Given the description of an element on the screen output the (x, y) to click on. 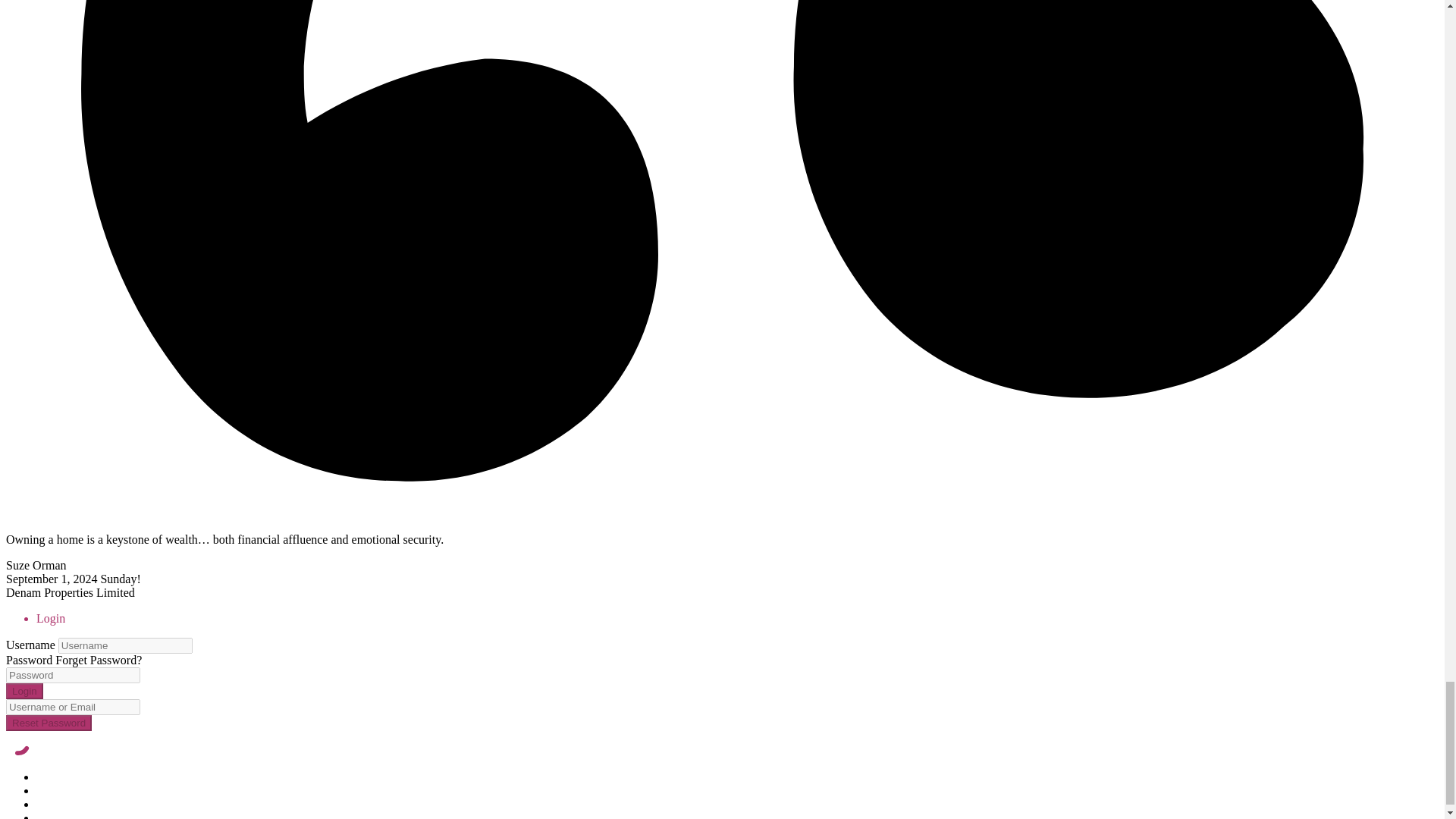
Username or Email (72, 706)
Username (125, 645)
Password (72, 675)
